Given the description of an element on the screen output the (x, y) to click on. 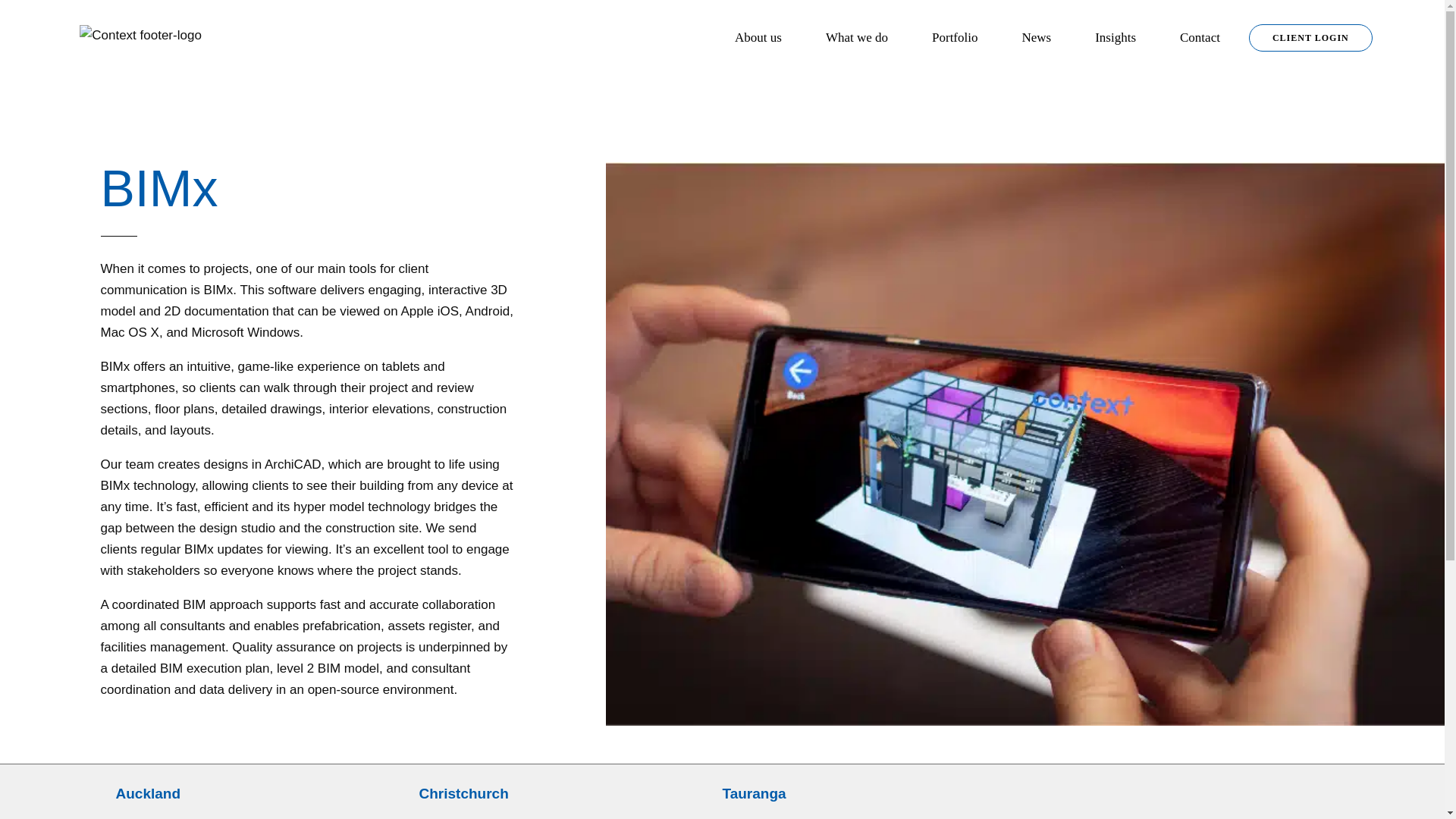
CLIENT LOGIN (1311, 37)
Portfolio (954, 37)
Contact (1199, 37)
Insights (1115, 37)
About us (757, 37)
News (1035, 37)
What we do (856, 37)
